Given the description of an element on the screen output the (x, y) to click on. 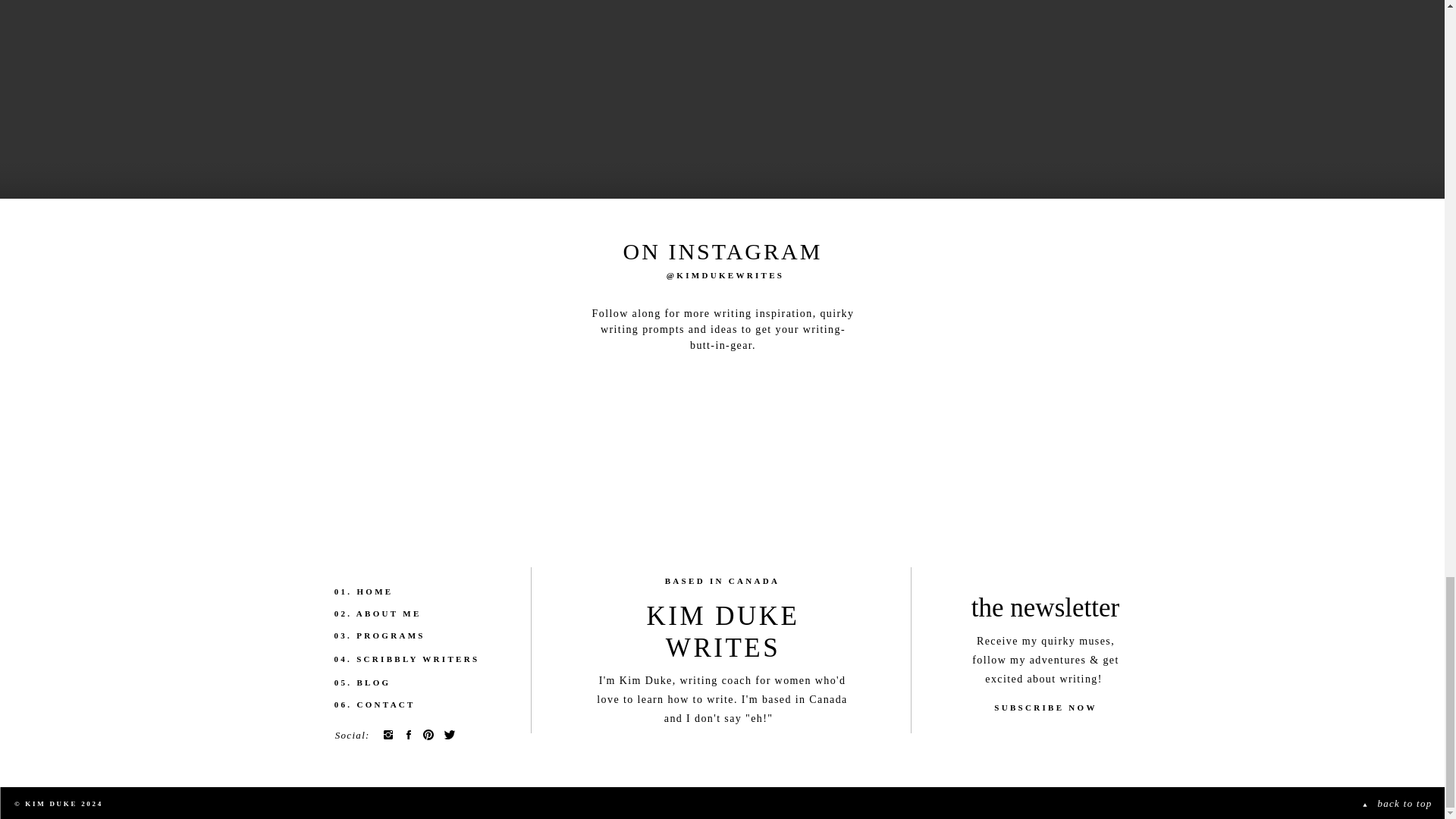
SUBSCRIBE NOW (1045, 710)
the newsletter (1044, 605)
05. BLOG (397, 682)
06. CONTACT (397, 704)
